Given the description of an element on the screen output the (x, y) to click on. 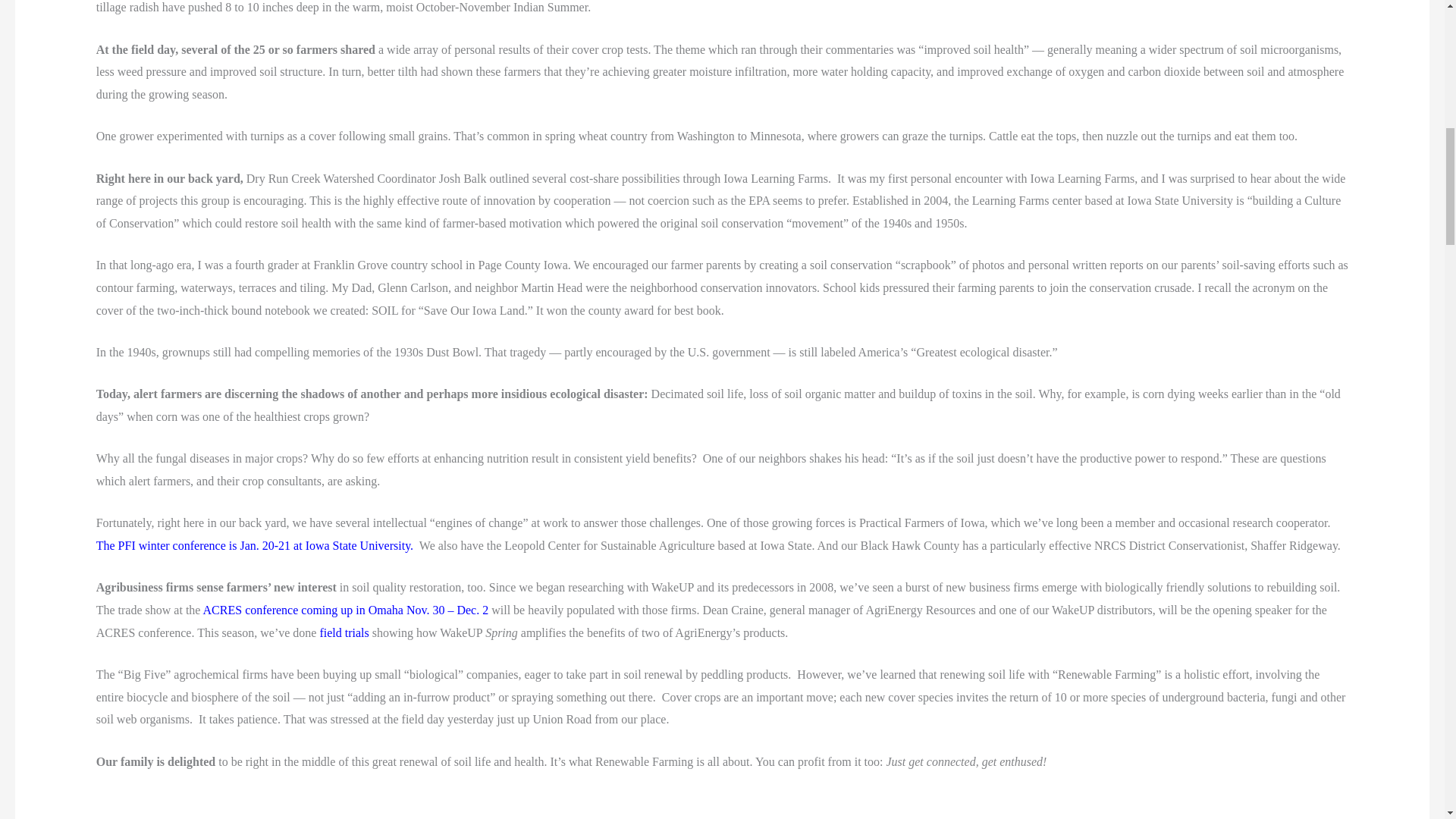
field trials (343, 632)
